Given the description of an element on the screen output the (x, y) to click on. 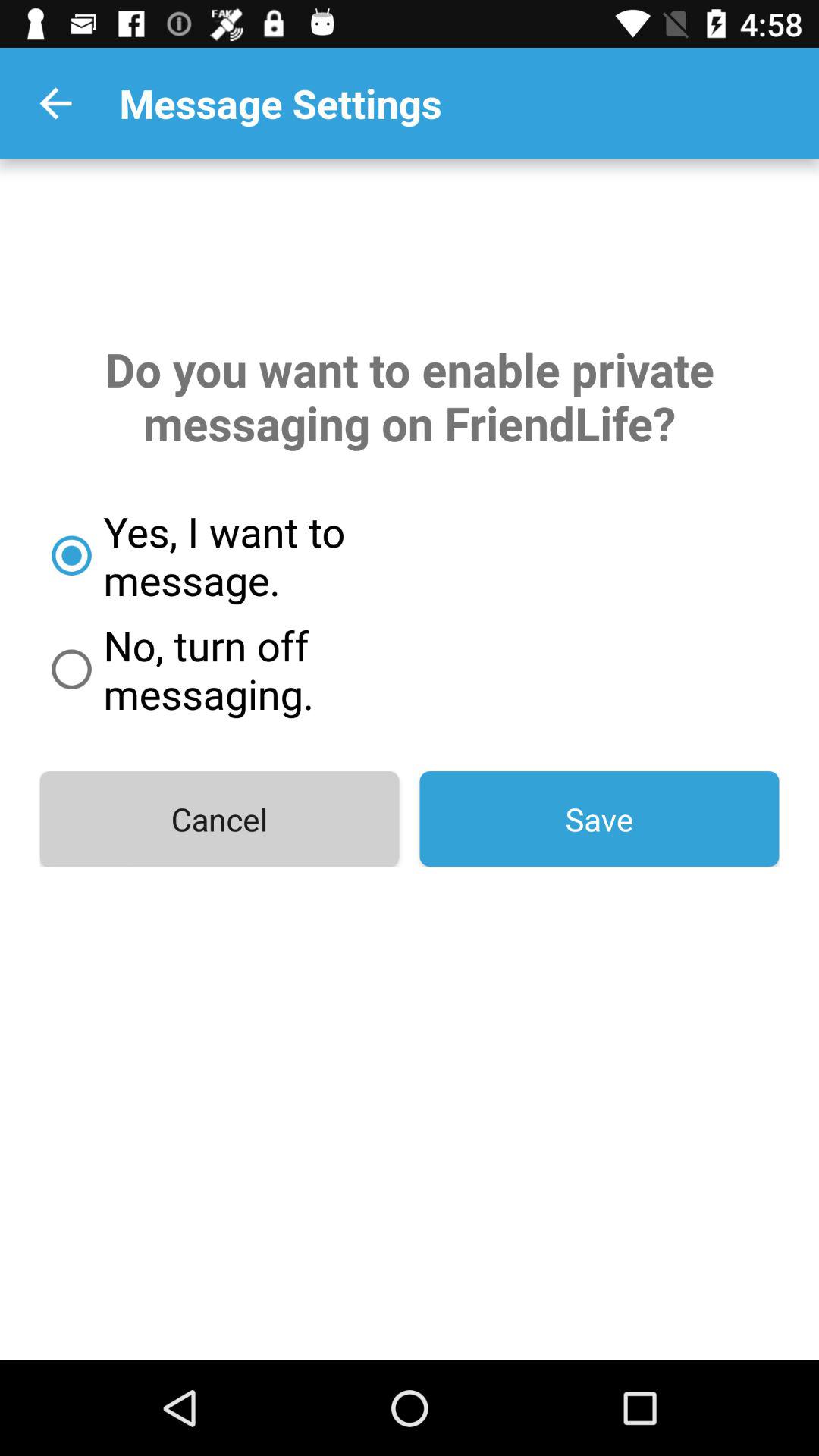
click icon above the cancel item (278, 669)
